Given the description of an element on the screen output the (x, y) to click on. 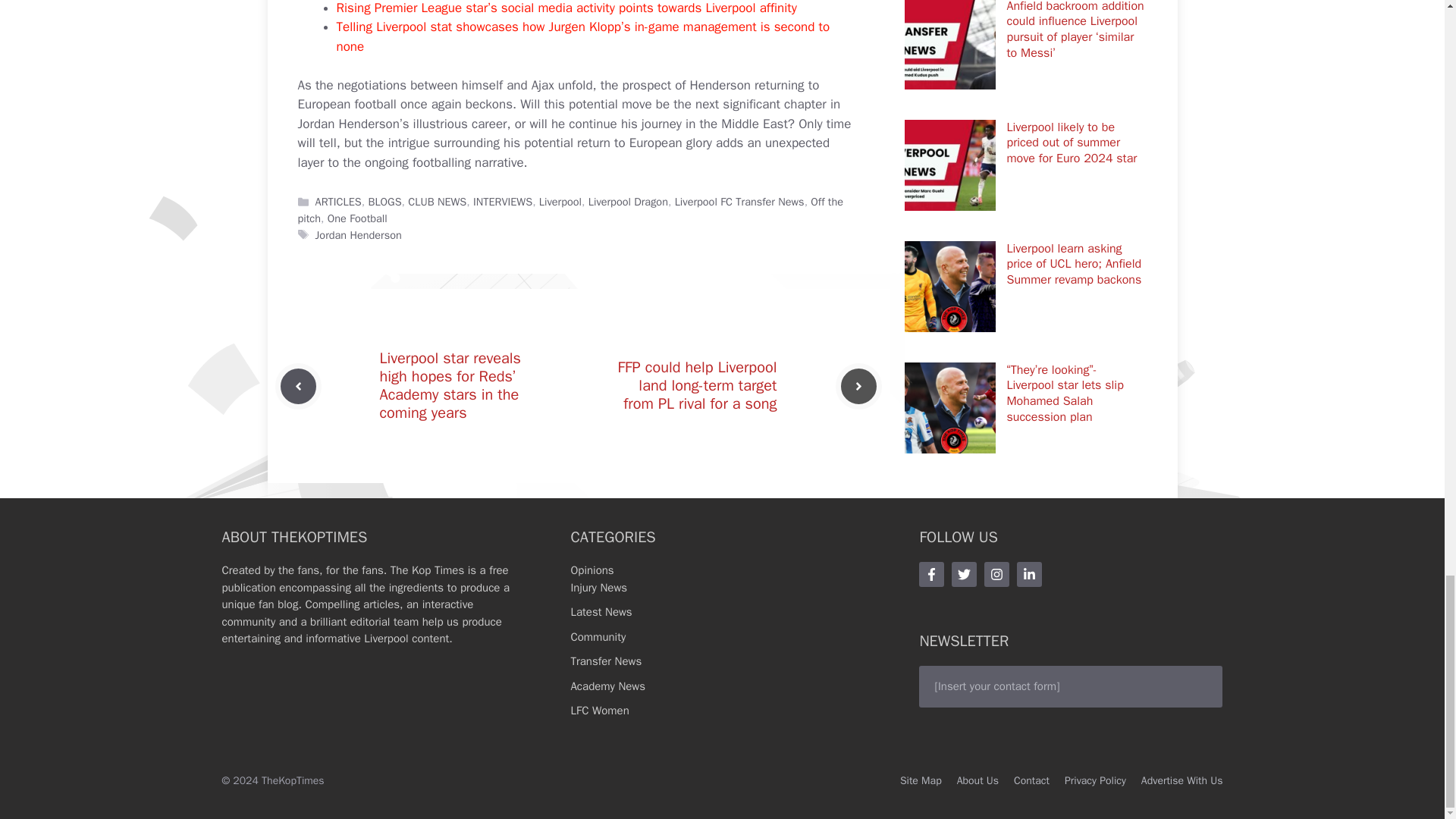
BLOGS (384, 201)
INTERVIEWS (502, 201)
Liverpool FC Transfer News (740, 201)
Jordan Henderson (358, 234)
Off the pitch (570, 209)
Liverpool Dragon (628, 201)
ARTICLES (338, 201)
Liverpool (559, 201)
One Football (357, 218)
CLUB NEWS (436, 201)
